Given the description of an element on the screen output the (x, y) to click on. 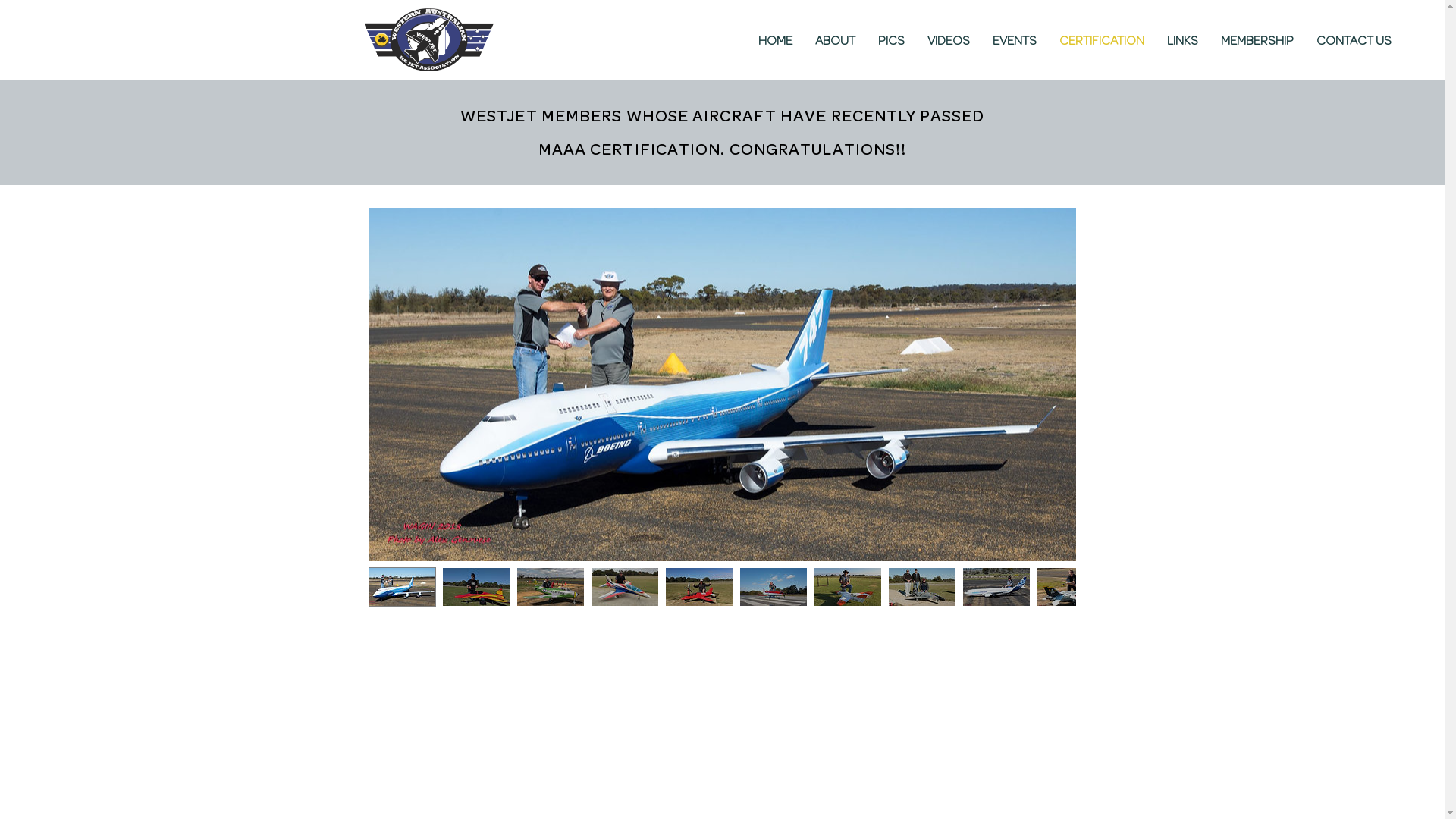
MEMBERSHIP Element type: text (1257, 40)
LINKS Element type: text (1182, 40)
ABOUT Element type: text (834, 40)
CERTIFICATION Element type: text (1101, 40)
CONTACT US Element type: text (1353, 40)
HOME Element type: text (774, 40)
PICS Element type: text (891, 40)
EVENTS Element type: text (1014, 40)
VIDEOS Element type: text (948, 40)
